Given the description of an element on the screen output the (x, y) to click on. 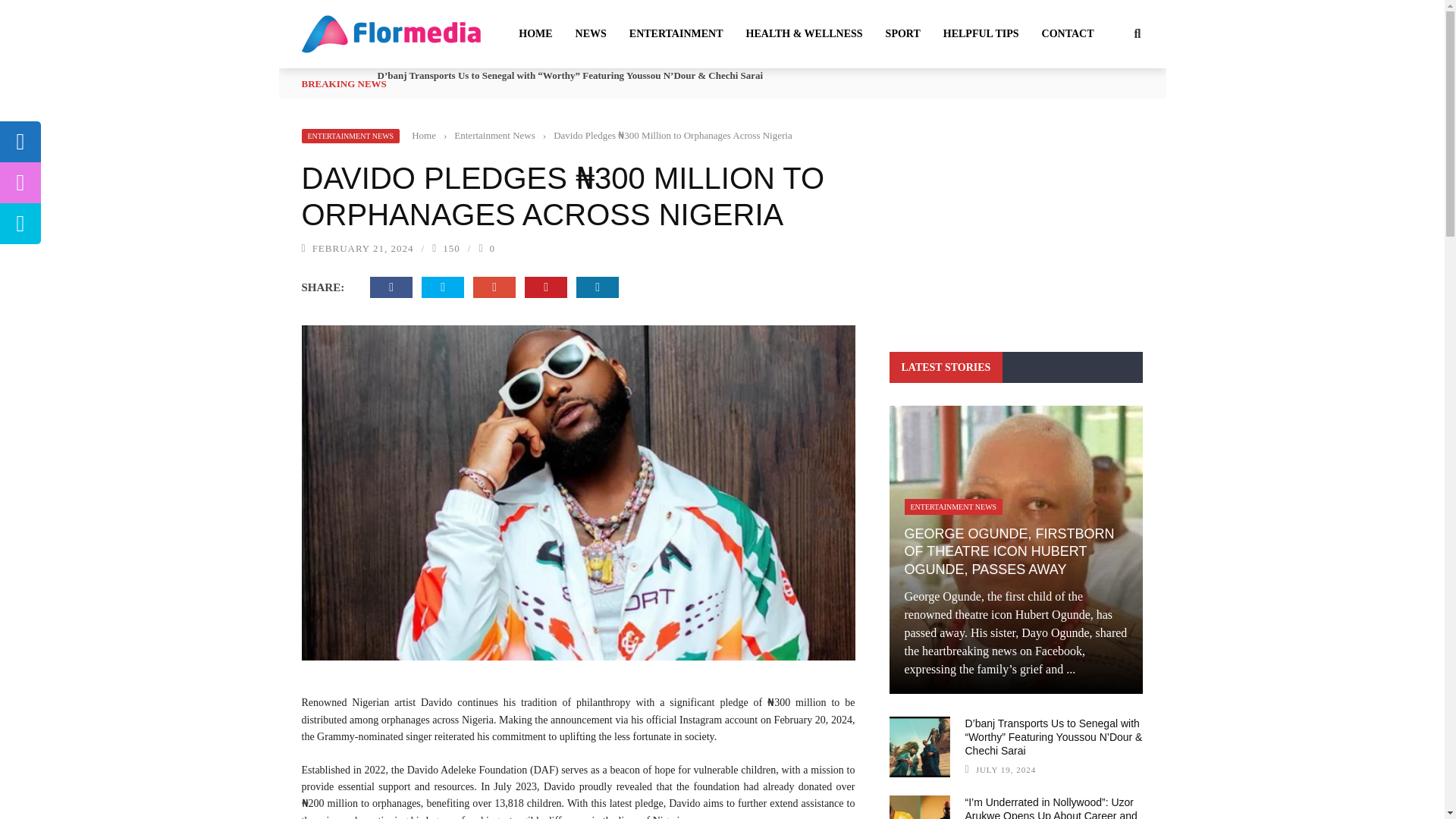
HOME (534, 33)
SPORT (903, 33)
ENTERTAINMENT (676, 33)
NEWS (590, 33)
CONTACT (1067, 33)
HELPFUL TIPS (980, 33)
Home (423, 134)
Entertainment News (494, 134)
ENTERTAINMENT NEWS (350, 135)
